Given the description of an element on the screen output the (x, y) to click on. 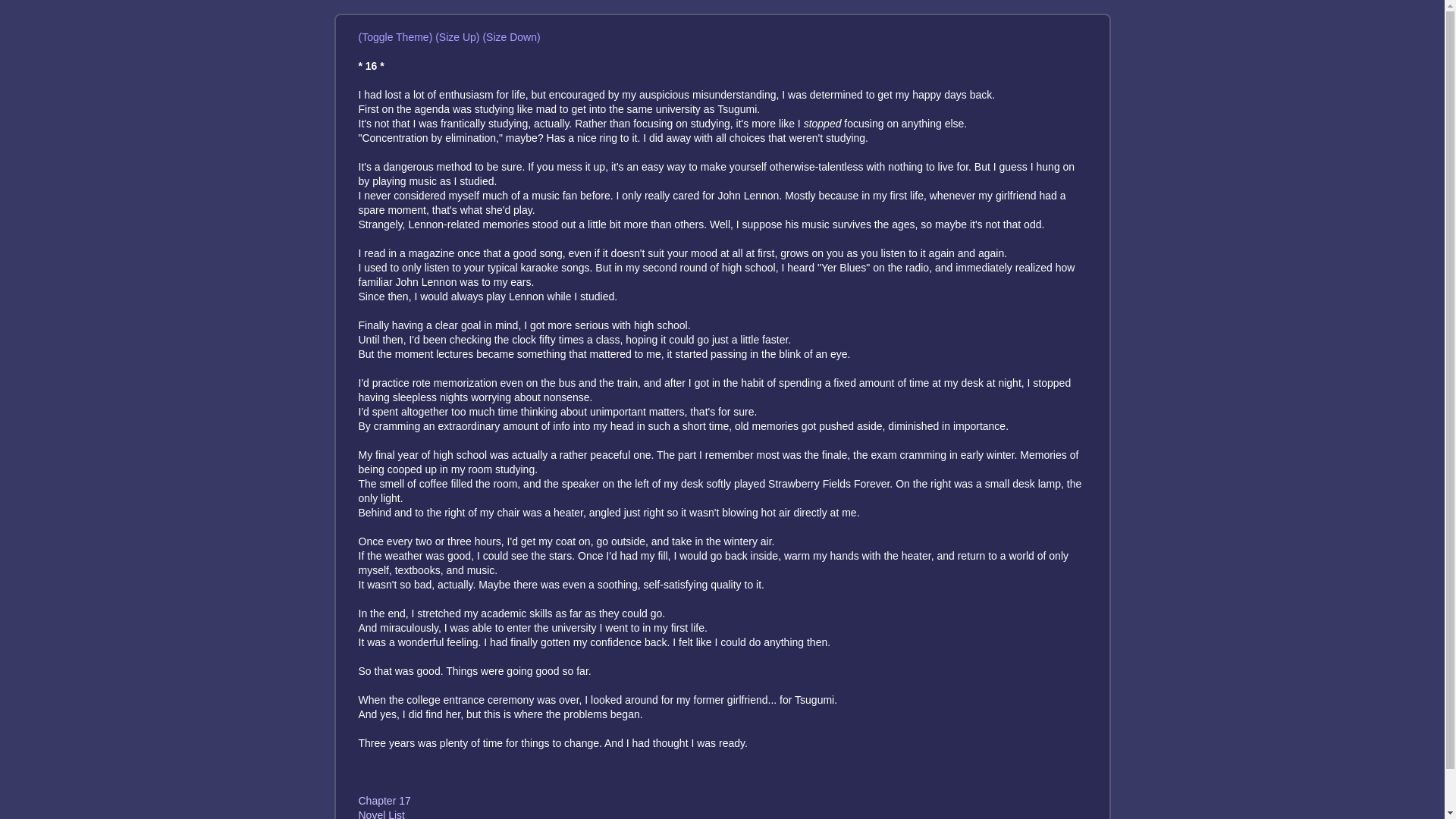
Chapter 17 (384, 800)
Novel List (381, 814)
